Given the description of an element on the screen output the (x, y) to click on. 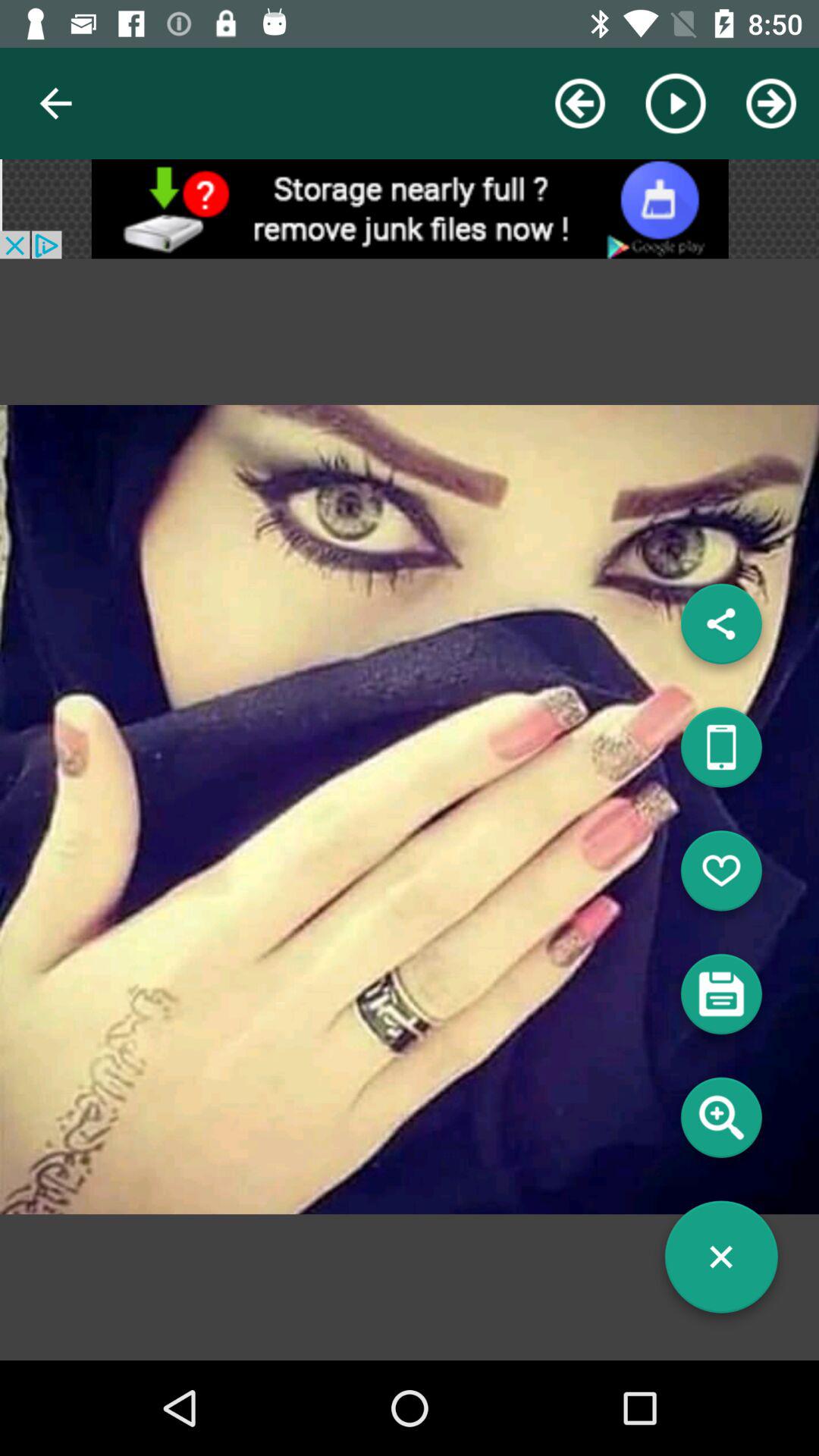
message (721, 999)
